Given the description of an element on the screen output the (x, y) to click on. 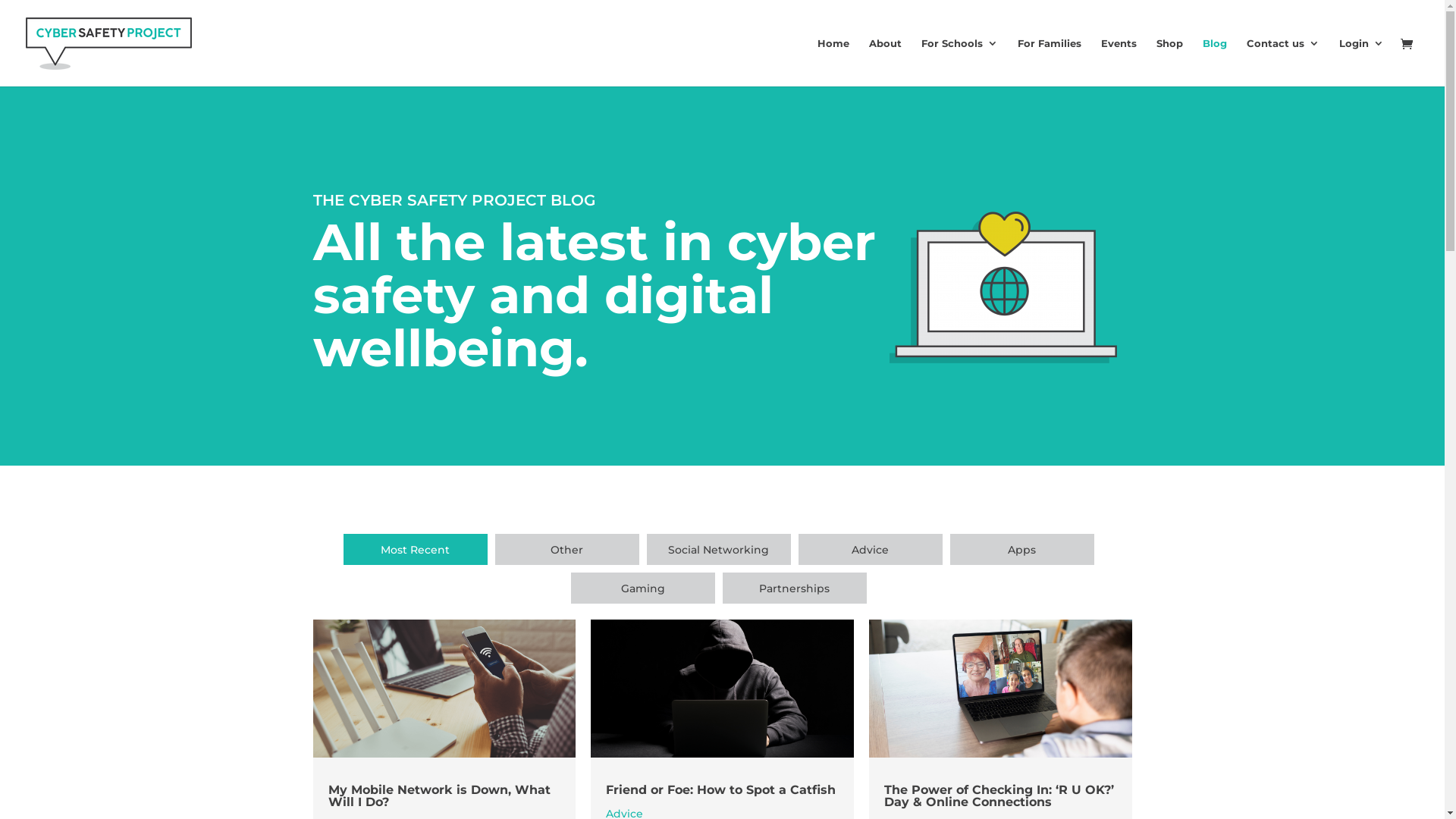
Shop Element type: text (1169, 61)
Gaming Element type: text (642, 587)
Partnerships Element type: text (793, 587)
Advice Element type: text (869, 548)
Other Element type: text (566, 548)
For Schools Element type: text (959, 61)
About Element type: text (885, 61)
Events Element type: text (1118, 61)
Home Element type: text (833, 61)
Contact us Element type: text (1282, 61)
Login Element type: text (1361, 61)
Most Recent Element type: text (414, 548)
For Families Element type: text (1049, 61)
Blog Element type: text (1214, 61)
Social Networking Element type: text (718, 548)
Apps Element type: text (1021, 548)
